Given the description of an element on the screen output the (x, y) to click on. 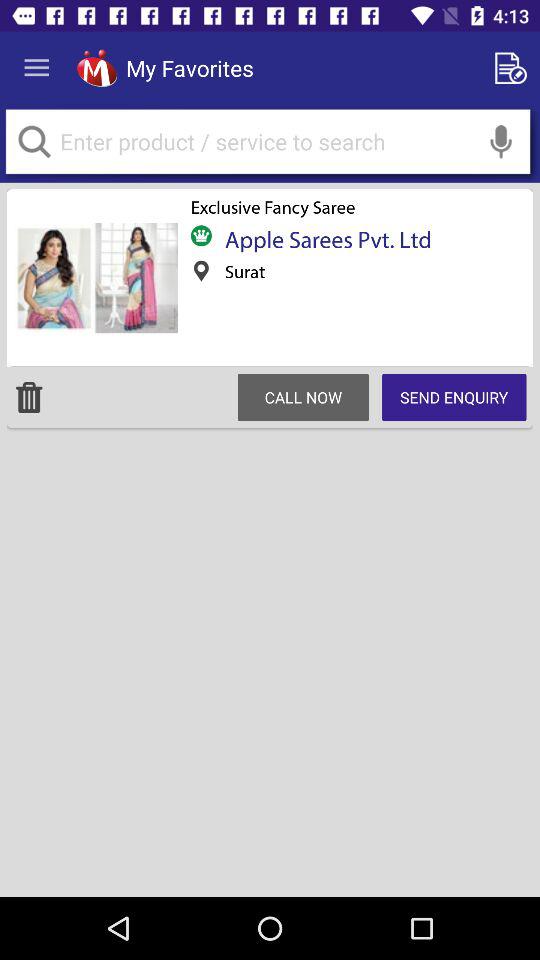
voice to text option (501, 141)
